Given the description of an element on the screen output the (x, y) to click on. 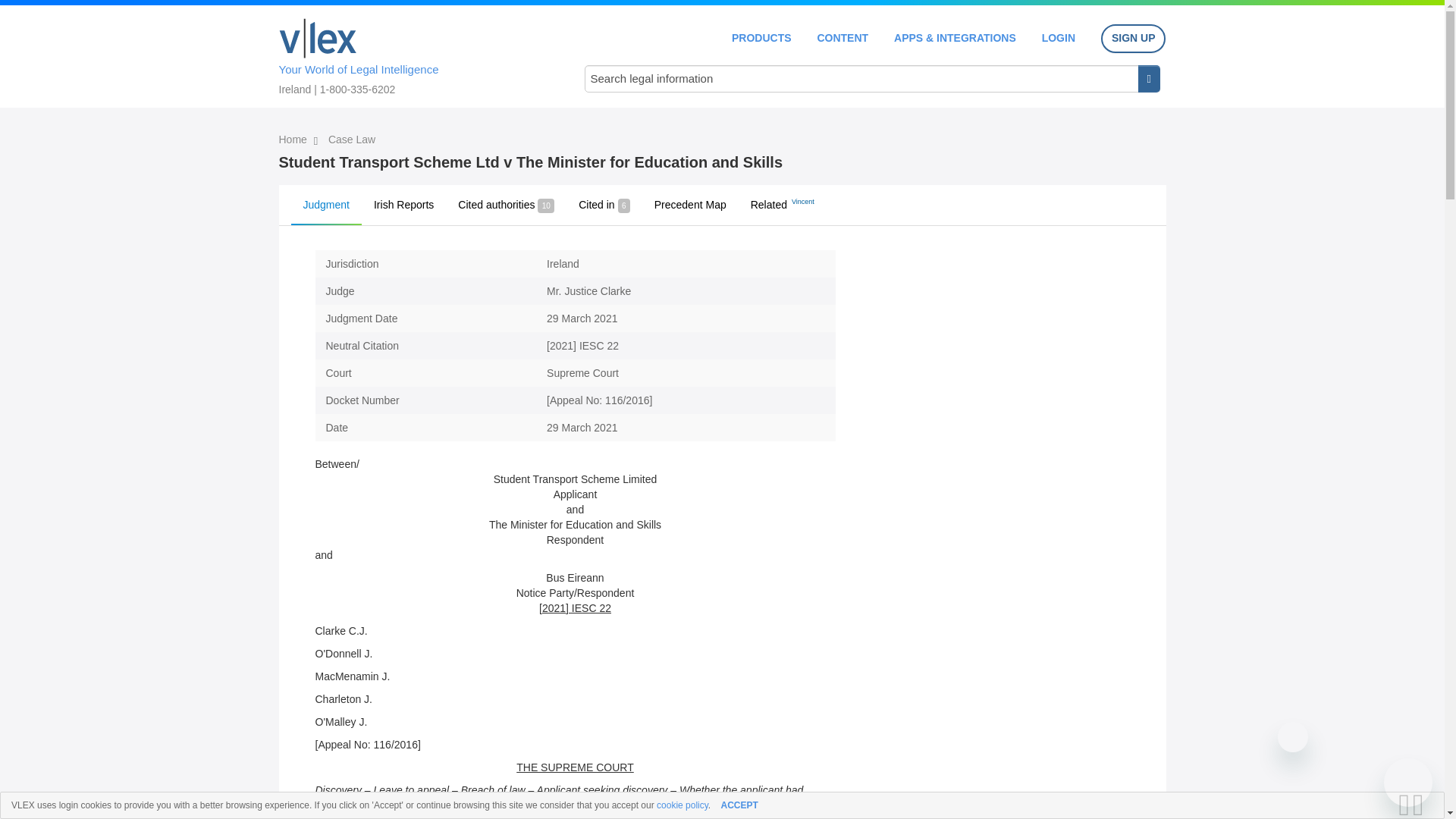
ACCEPT (739, 805)
Case Law (352, 139)
PRODUCTS (762, 37)
CLOSE (1422, 805)
CONTENT (841, 37)
Home (317, 38)
LOGIN (1058, 37)
cookie policy (681, 805)
Your World of Legal Intelligence (416, 53)
Home (294, 139)
SIGN UP (1133, 38)
